Given the description of an element on the screen output the (x, y) to click on. 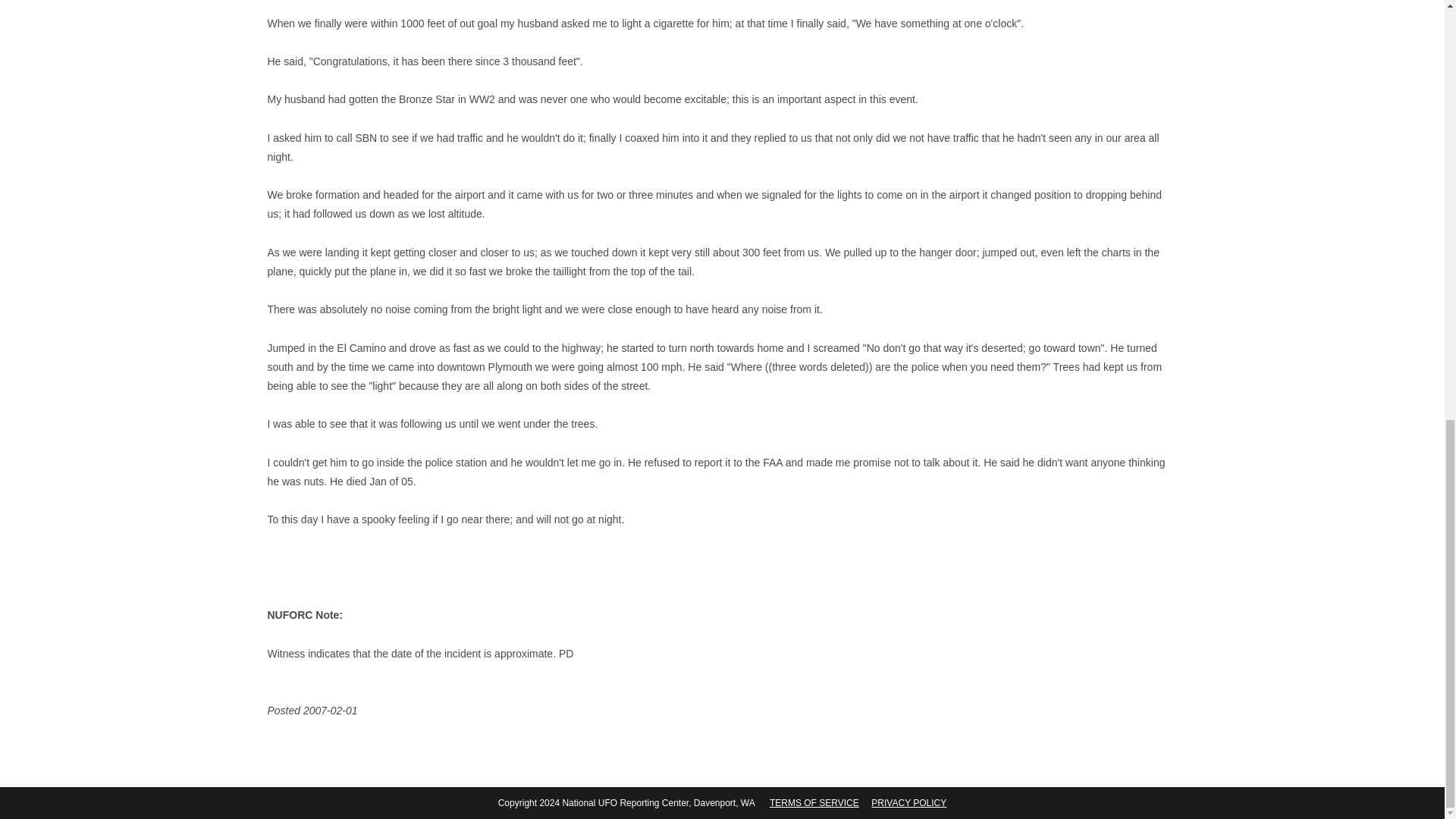
TERMS OF SERVICE (814, 802)
PRIVACY POLICY (908, 802)
